Given the description of an element on the screen output the (x, y) to click on. 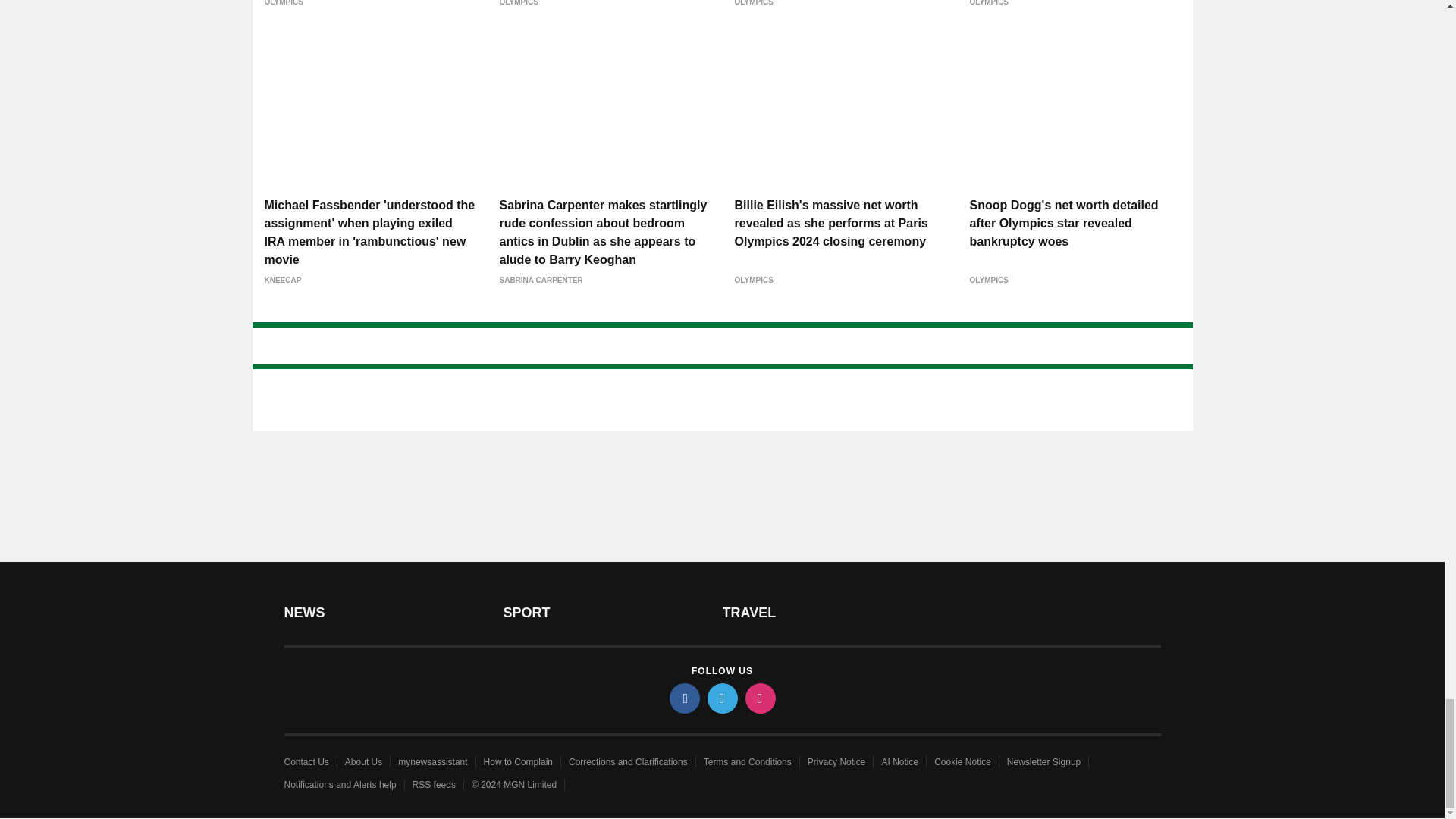
facebook (683, 698)
twitter (721, 698)
instagram (759, 698)
